Given the description of an element on the screen output the (x, y) to click on. 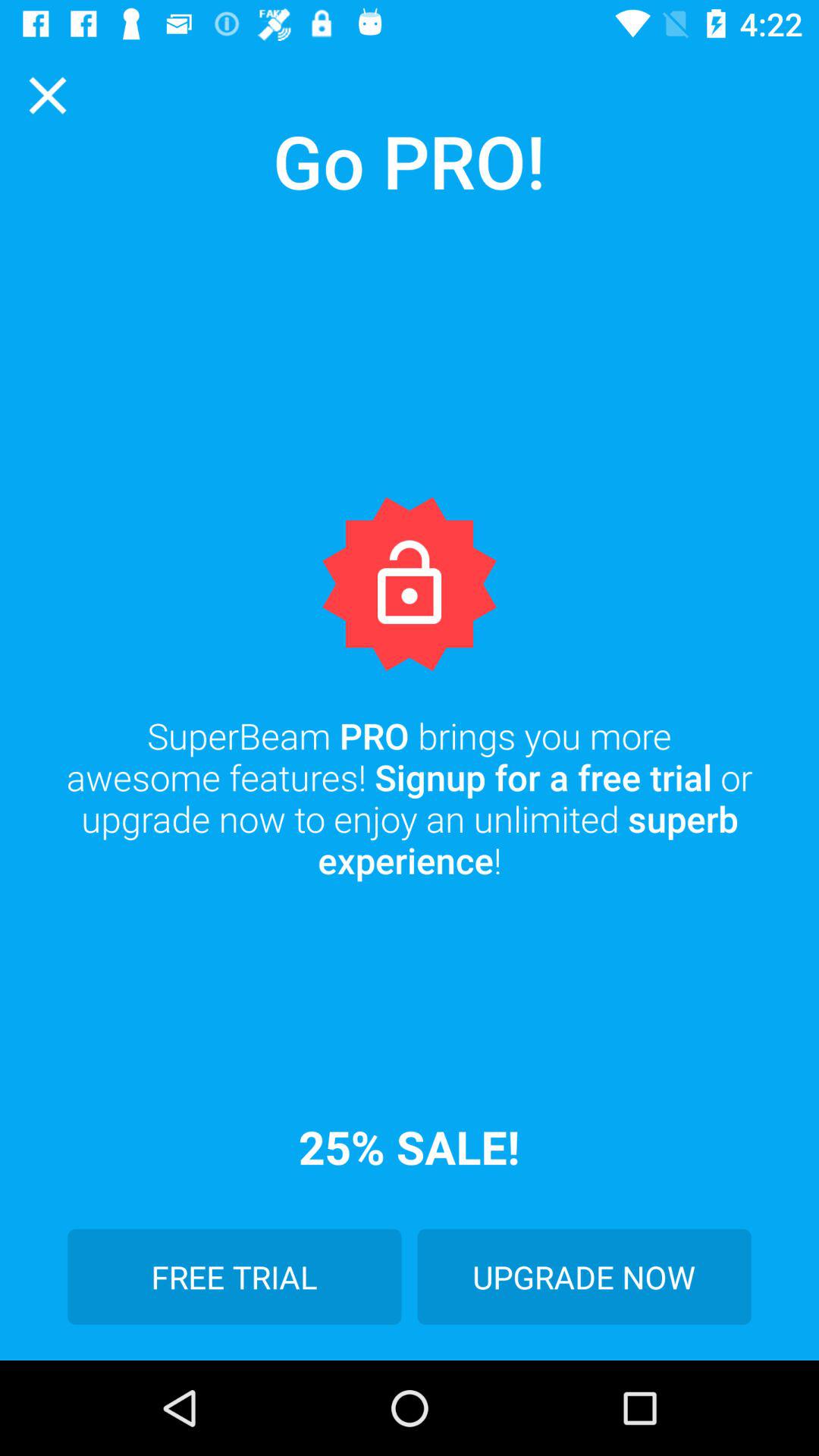
tap item above the superbeam pro brings icon (47, 95)
